Given the description of an element on the screen output the (x, y) to click on. 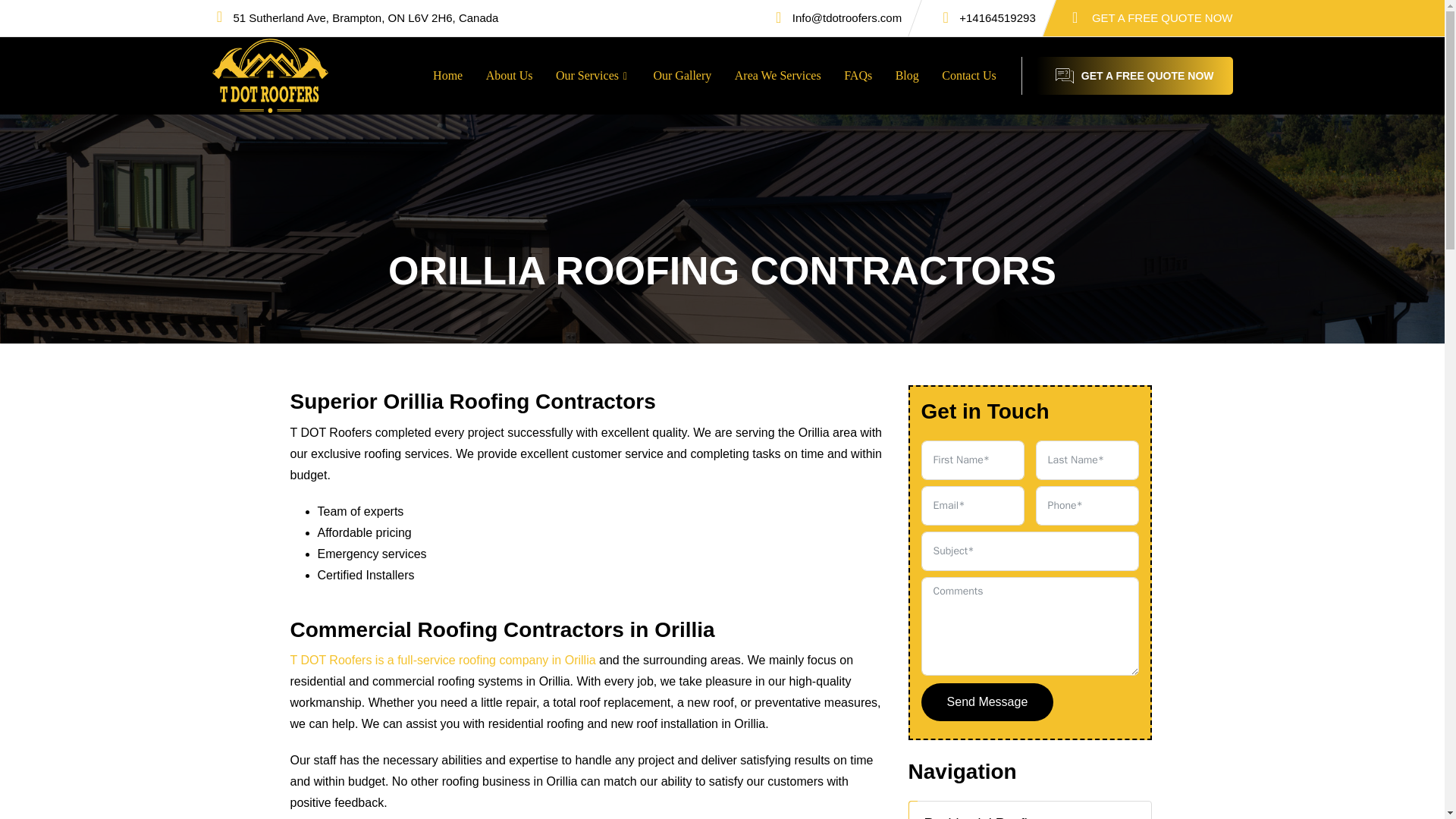
GET A FREE QUOTE NOW (1134, 75)
Our Services (593, 75)
Our Gallery (681, 75)
Contact Us (968, 75)
Area We Services (778, 75)
GET A FREE QUOTE NOW (1162, 19)
